Given the description of an element on the screen output the (x, y) to click on. 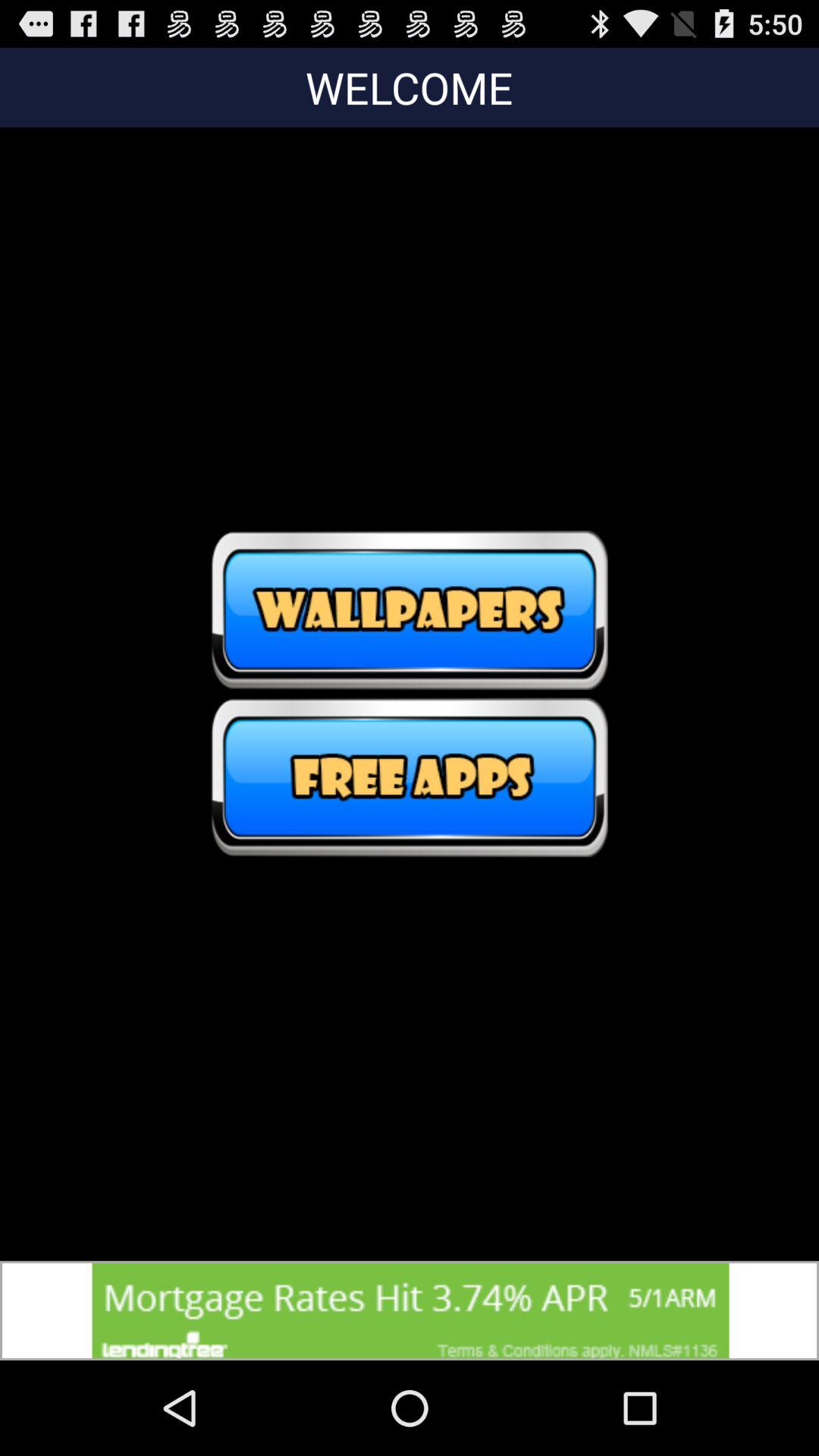
advertisement information (409, 1310)
